Given the description of an element on the screen output the (x, y) to click on. 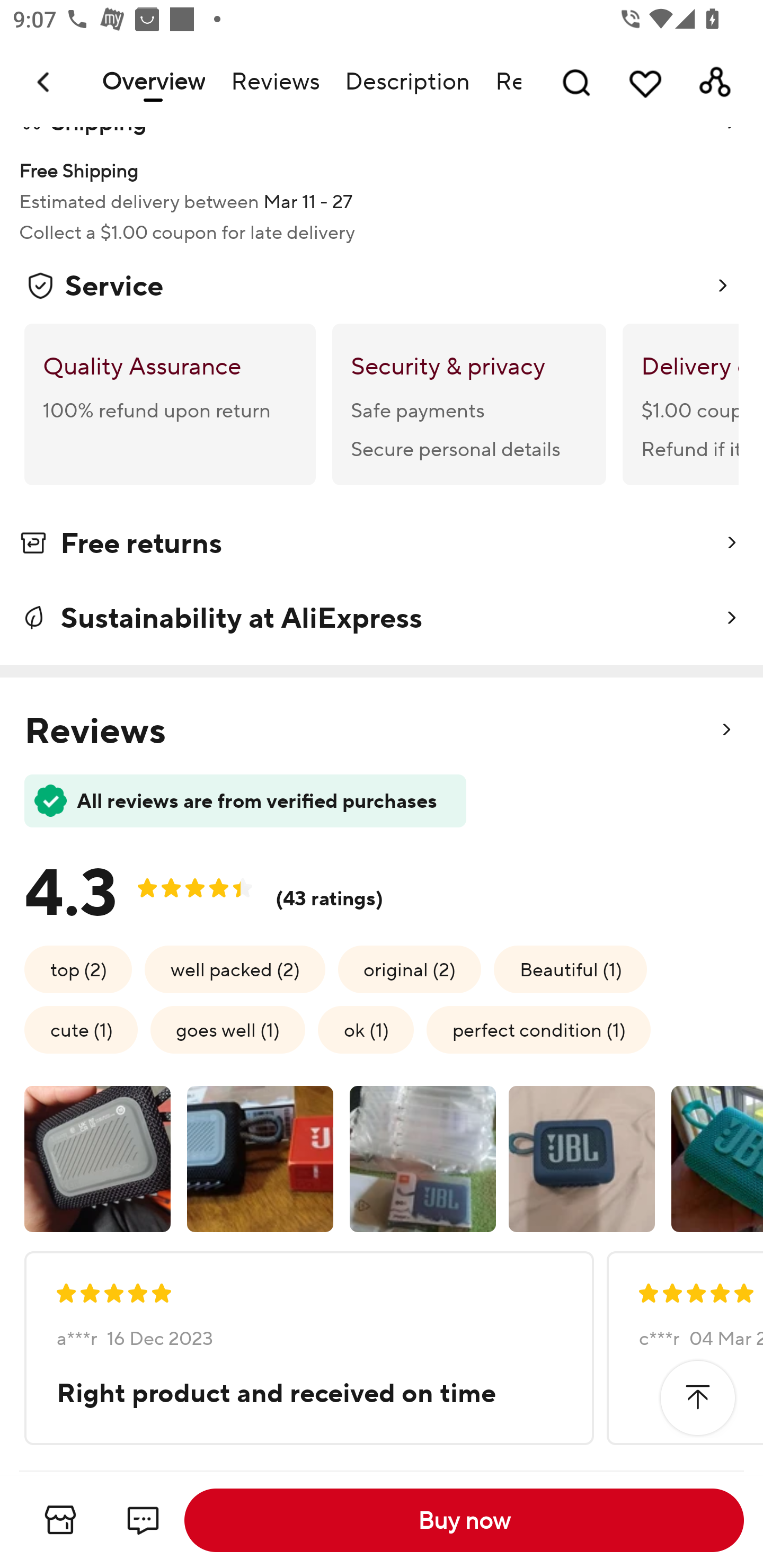
Navigate up (44, 82)
Reviews (274, 81)
Description (406, 81)
Free returns  (381, 546)
Sustainability at AliExpress  (381, 617)
4.3 43.0 (43 ratings) (218, 886)
top (2) (77, 968)
well packed (2) (234, 968)
original (2) (409, 968)
Beautiful (1) (570, 968)
cute (1) (81, 1029)
goes well (1) (227, 1029)
ok (1) (365, 1029)
perfect condition (1) (538, 1029)
 (697, 1397)
Right product and received on time (306, 1392)
Buy now (463, 1520)
